Given the description of an element on the screen output the (x, y) to click on. 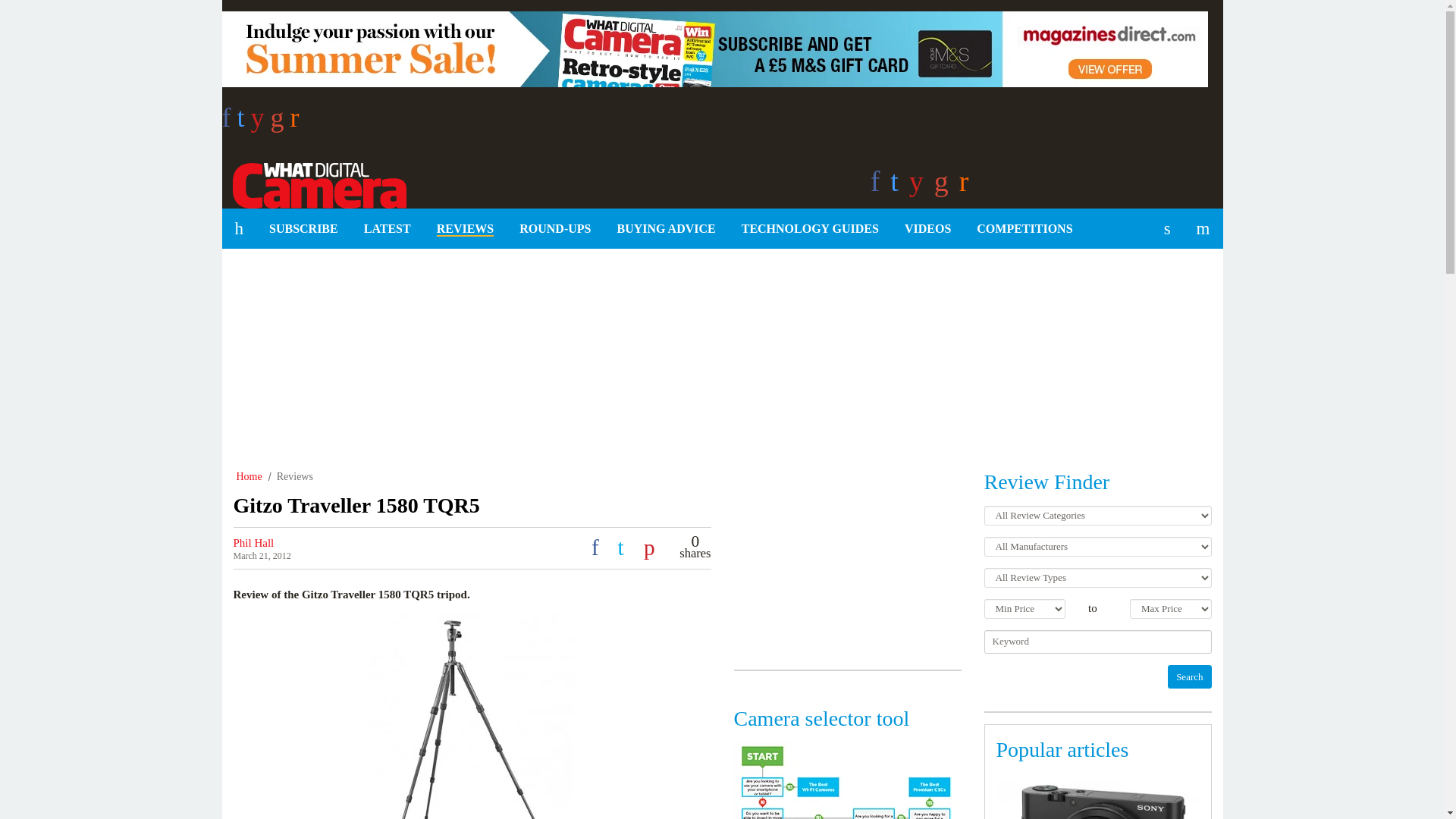
Search (1189, 677)
What Digital Camera (313, 182)
Phil Hall's Profile (253, 542)
REVIEWS (464, 228)
BUYING ADVICE (666, 228)
t (242, 122)
What Digital Camera (313, 182)
LATEST (386, 228)
ROUND-UPS (555, 228)
y (260, 122)
g (279, 122)
f (228, 122)
SUBSCRIBE (303, 228)
r (294, 122)
